Given the description of an element on the screen output the (x, y) to click on. 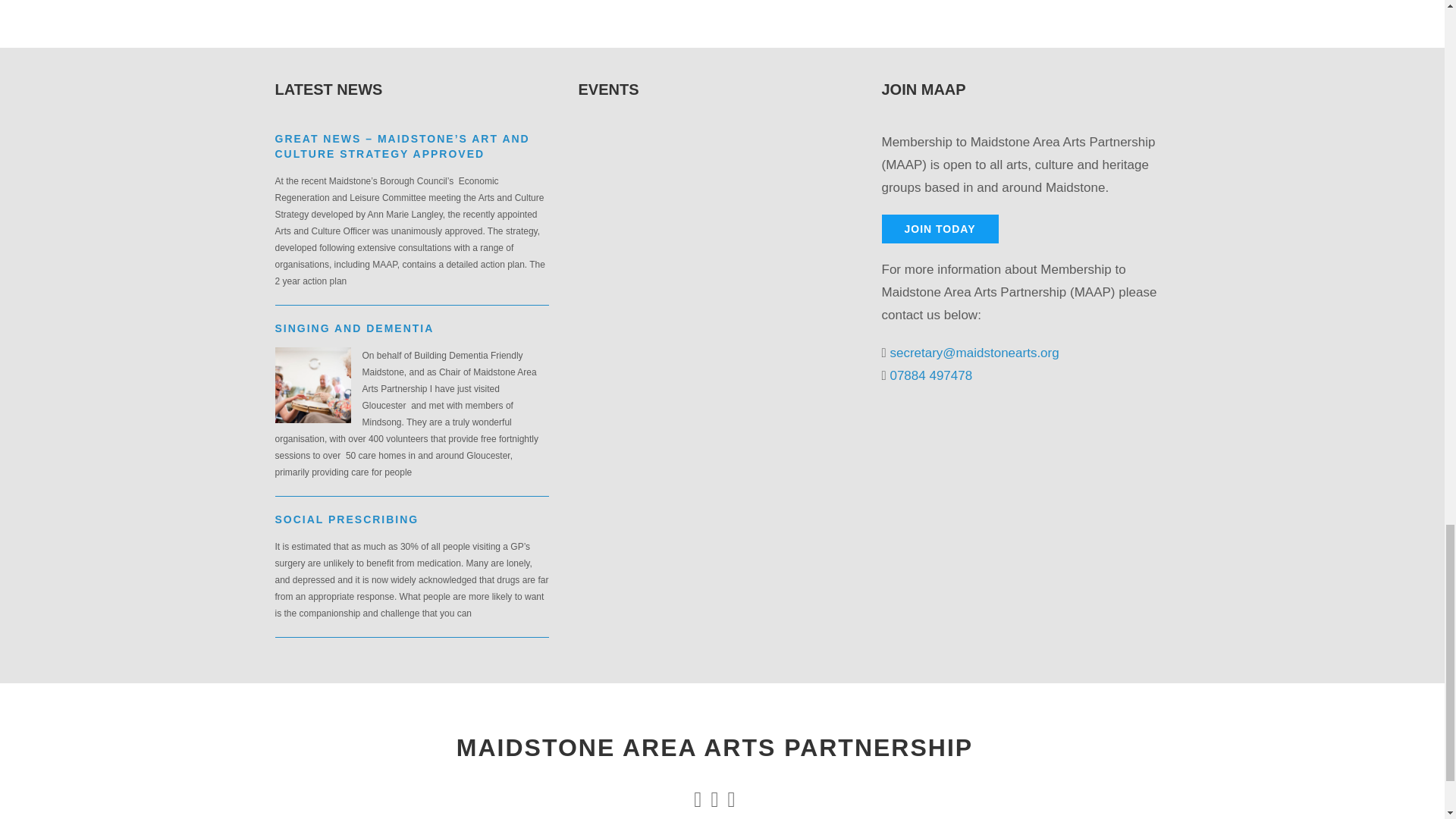
SOCIAL PRESCRIBING (347, 519)
SINGING AND DEMENTIA (354, 328)
JOIN TODAY (938, 228)
07884 497478 (930, 375)
